Given the description of an element on the screen output the (x, y) to click on. 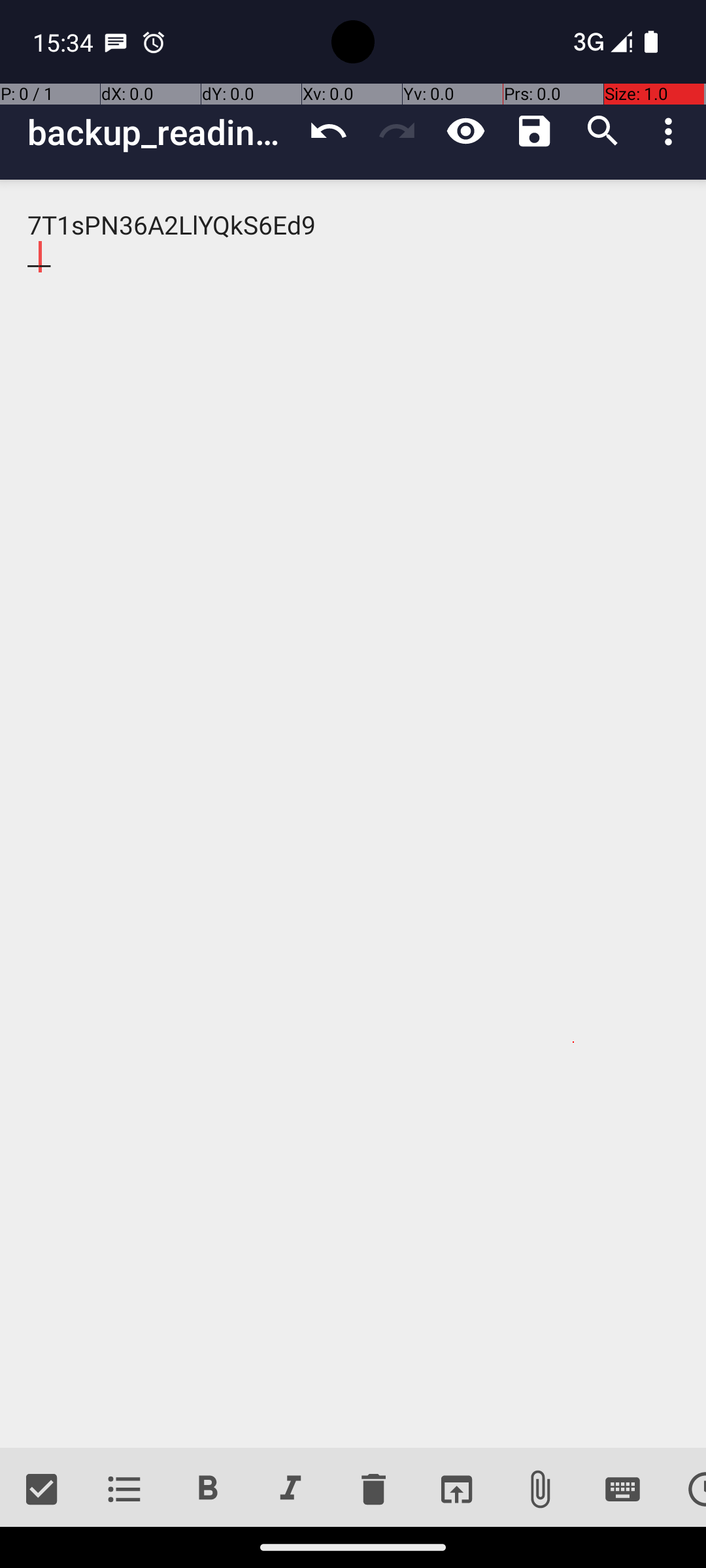
backup_reading_list_2024 Element type: android.widget.TextView (160, 131)
7T1sPN36A2LlYQkS6Ed9
__ Element type: android.widget.EditText (353, 813)
